Given the description of an element on the screen output the (x, y) to click on. 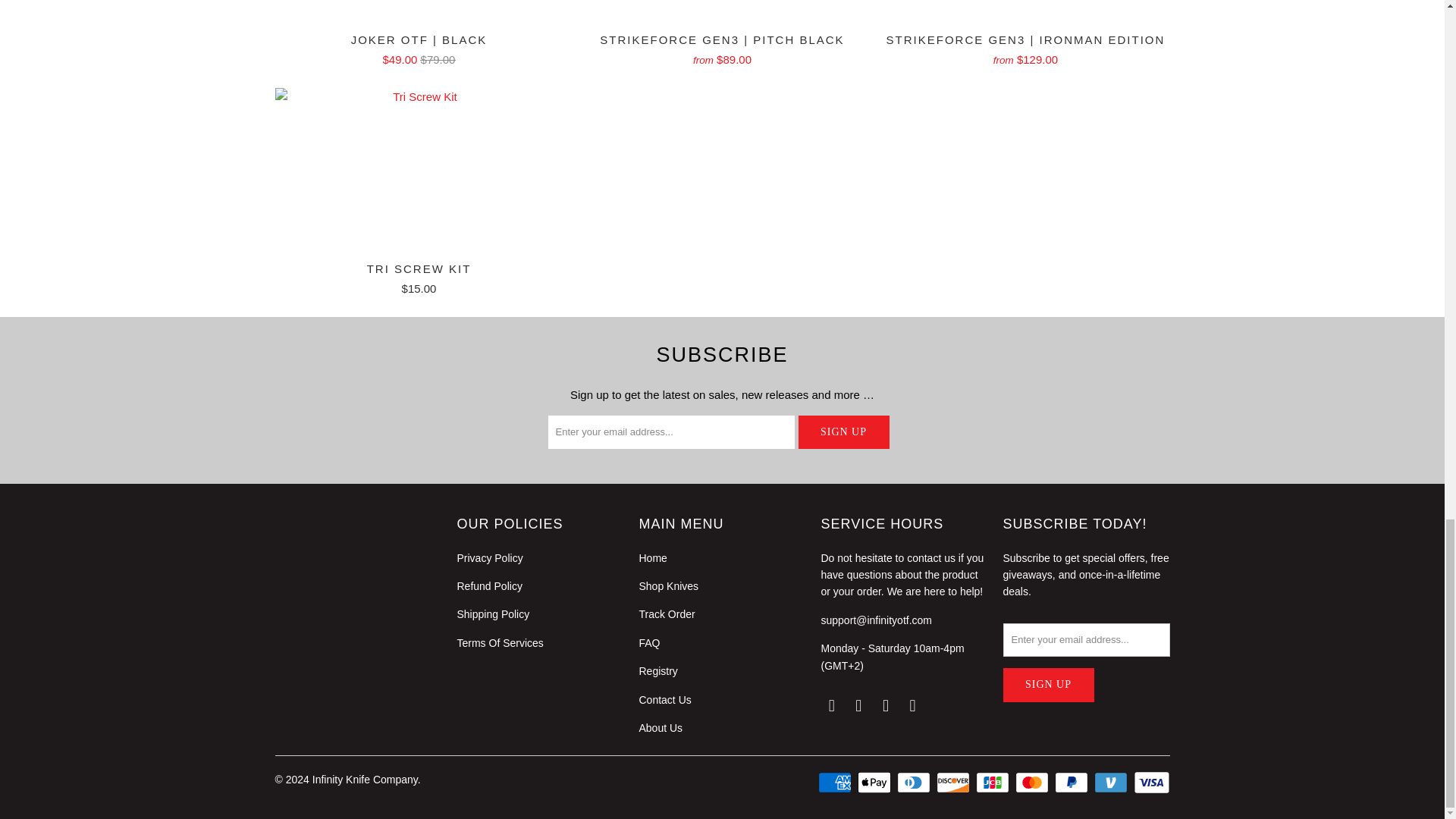
Mastercard (1032, 782)
Apple Pay (875, 782)
PayPal (1072, 782)
Discover (954, 782)
Diners Club (914, 782)
Sign Up (842, 431)
Visa (1150, 782)
Email Infinity Knife Company (832, 705)
Sign Up (1048, 684)
Venmo (1112, 782)
Infinity Knife Company on Facebook (858, 705)
JCB (993, 782)
American Express (836, 782)
